Given the description of an element on the screen output the (x, y) to click on. 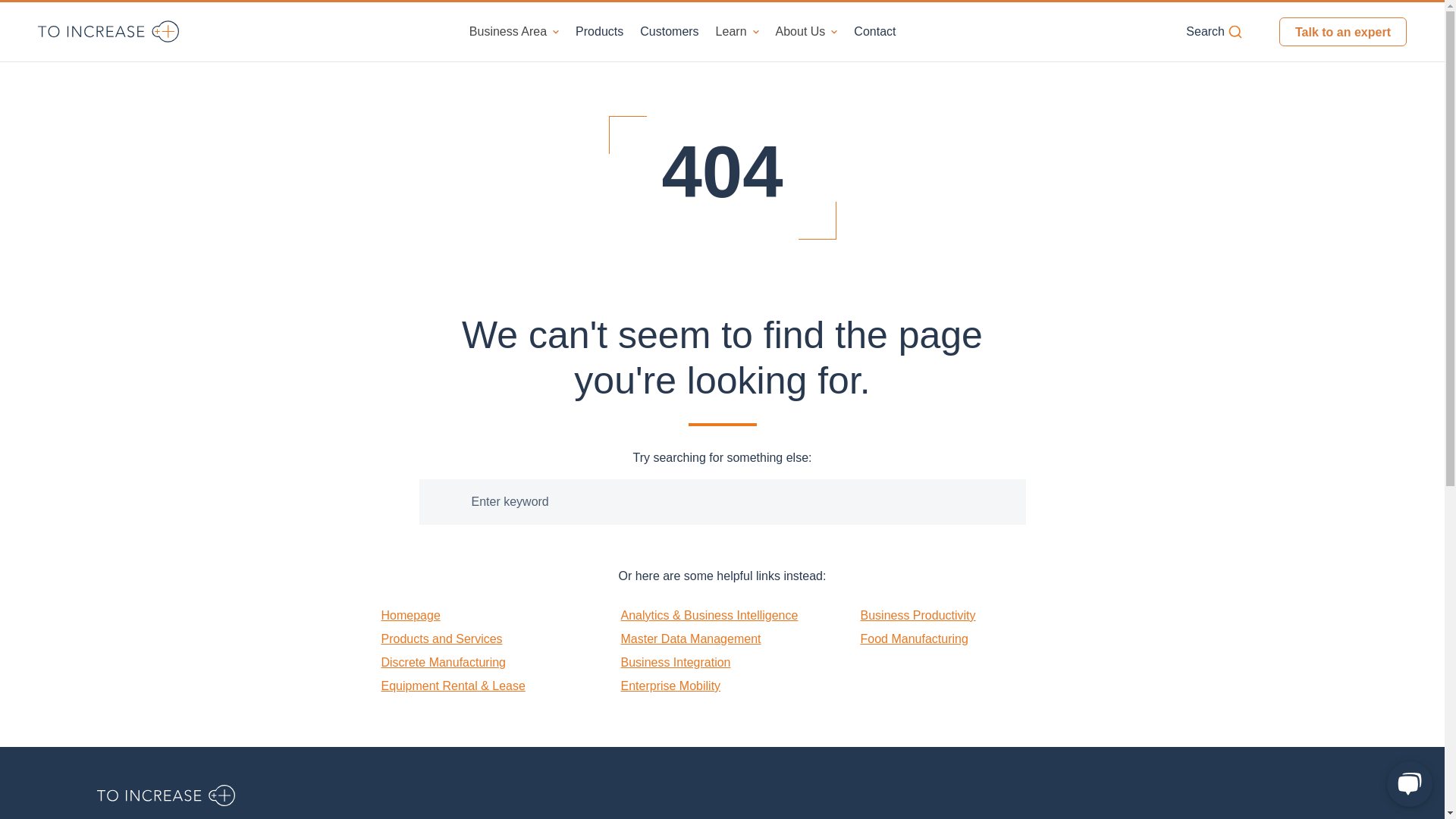
Back to home (166, 794)
Customers (669, 31)
Back to homepage (108, 30)
Search (1214, 31)
Products (599, 31)
Contact (874, 31)
Talk to an expert (1342, 31)
